Given the description of an element on the screen output the (x, y) to click on. 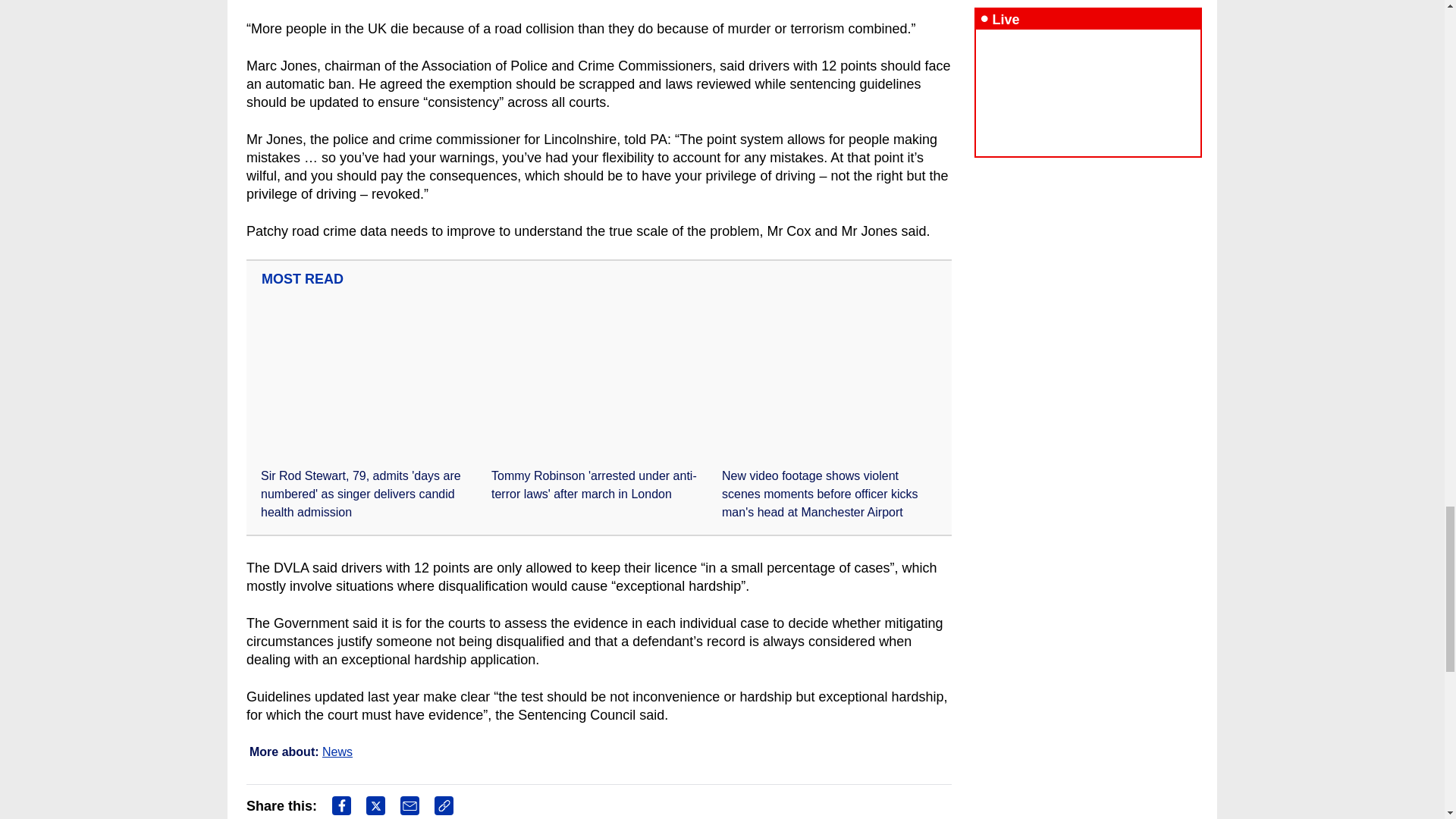
Copy this link to clipboard (442, 805)
